Given the description of an element on the screen output the (x, y) to click on. 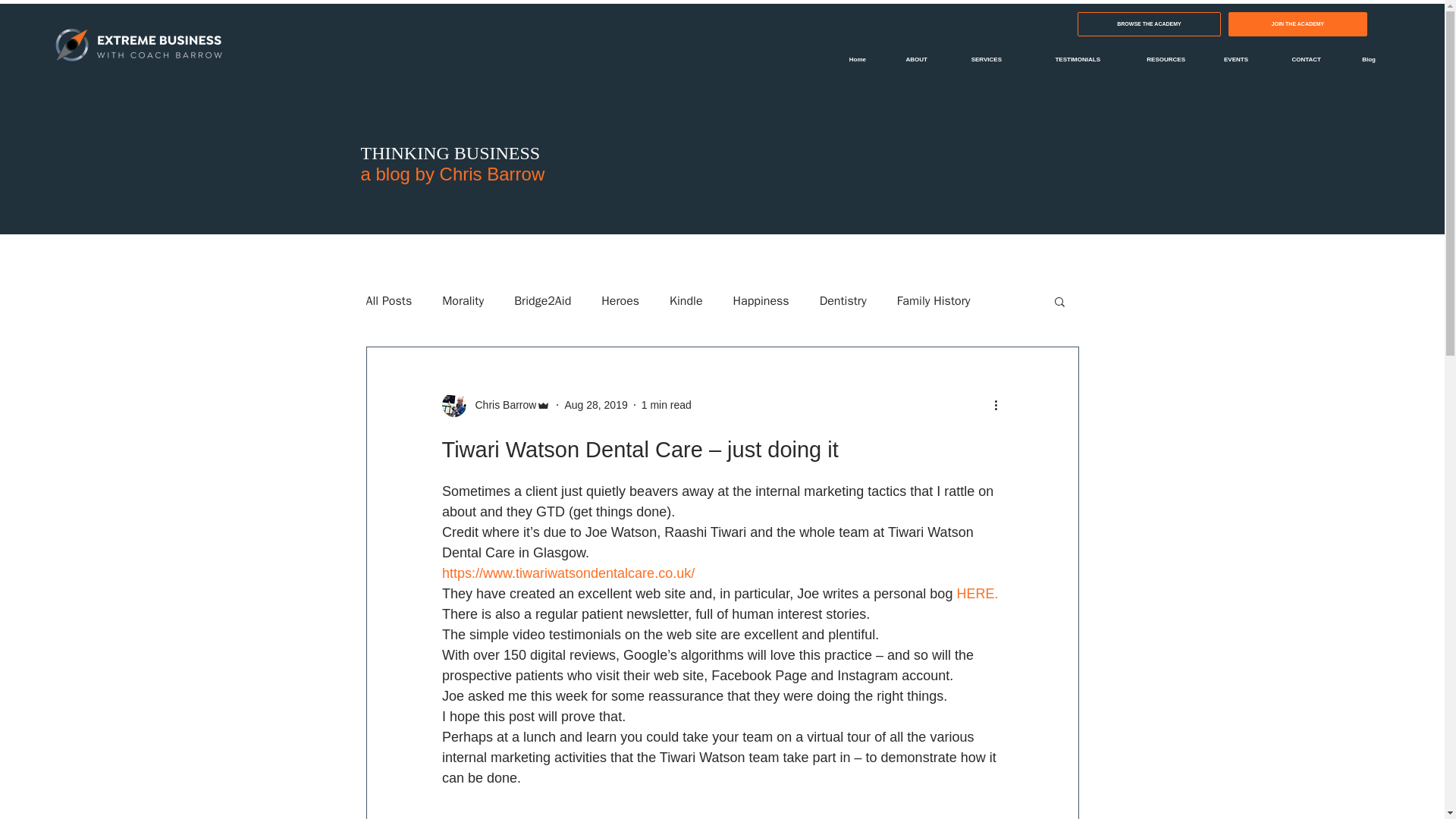
CONTACT (1295, 59)
Family History (933, 300)
EVENTS (1227, 59)
1 min read (666, 404)
Home (849, 59)
Kindle (685, 300)
All Posts (388, 300)
Bridge2Aid (541, 300)
Morality (462, 300)
Aug 28, 2019 (595, 404)
TESTIMONIALS (1062, 59)
Heroes (620, 300)
RESOURCES (1154, 59)
Happiness (761, 300)
JOIN THE ACADEMY (1297, 24)
